Given the description of an element on the screen output the (x, y) to click on. 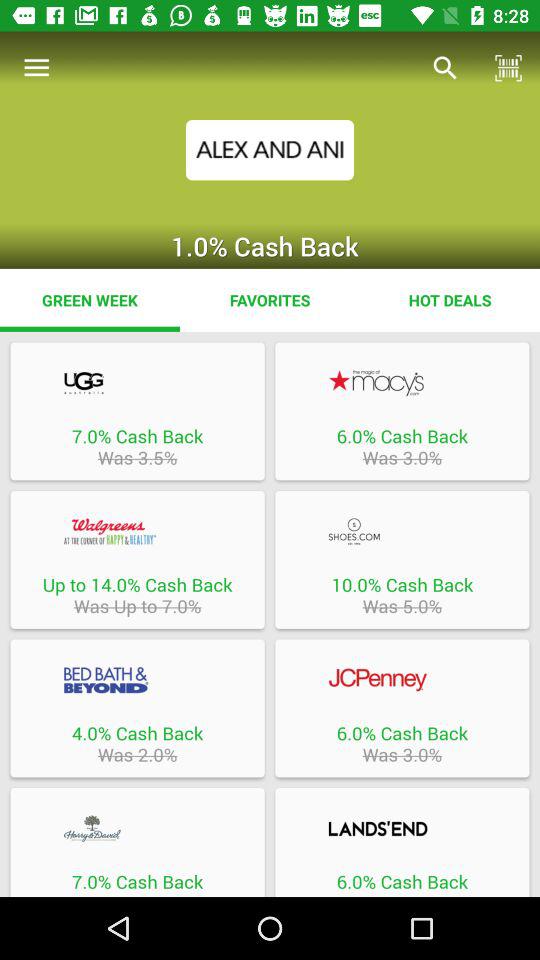
press app to the left of favorites icon (90, 299)
